Given the description of an element on the screen output the (x, y) to click on. 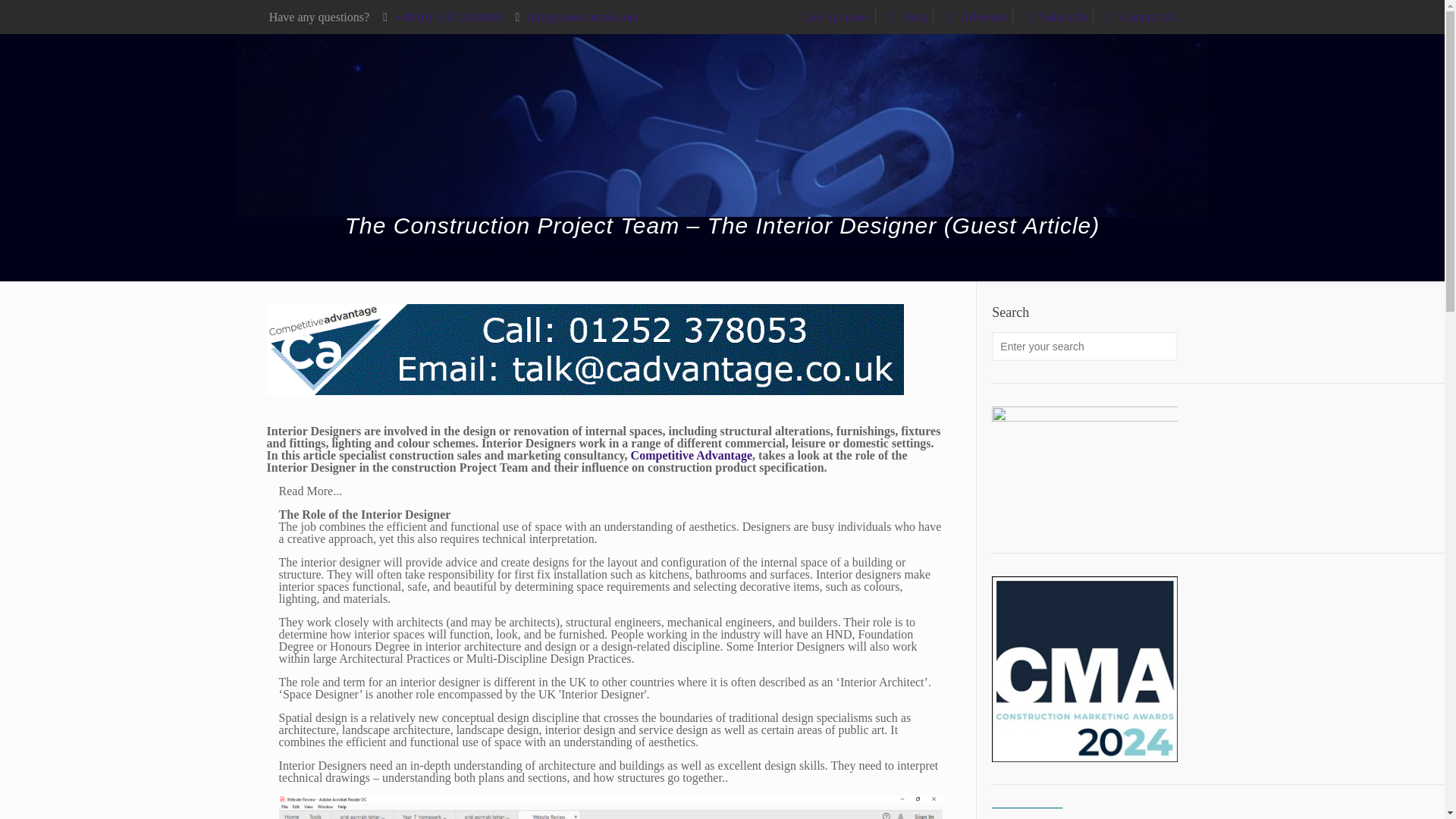
Our Sponsors (836, 16)
Read More... (304, 494)
Subscribe (1053, 16)
Contact Us (1137, 16)
Advertise (973, 16)
Shop (905, 16)
